Given the description of an element on the screen output the (x, y) to click on. 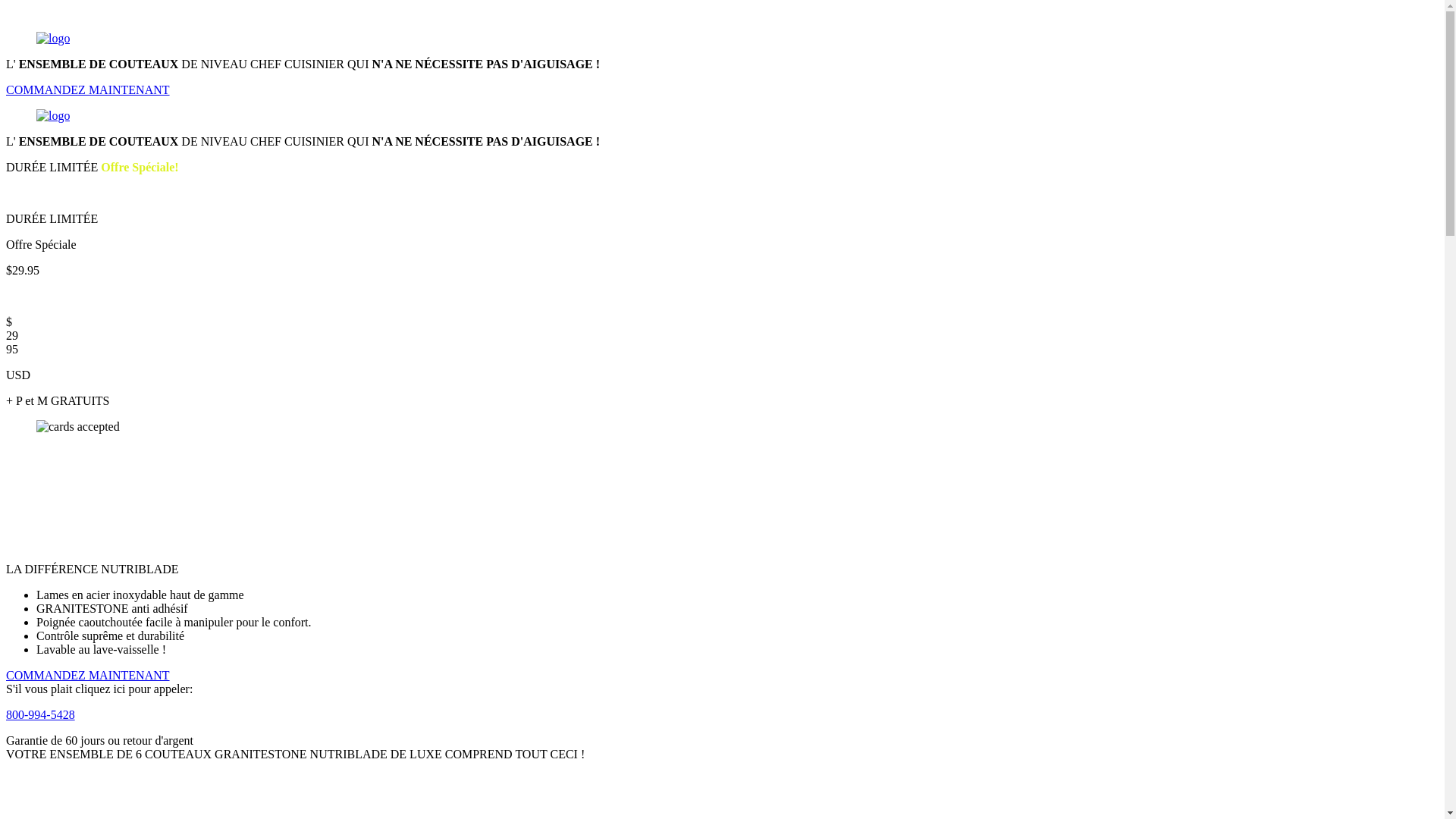
COMMANDEZ MAINTENANT Element type: text (87, 89)
COMMANDEZ MAINTENANT Element type: text (87, 674)
800-994-5428 Element type: text (40, 714)
